Given the description of an element on the screen output the (x, y) to click on. 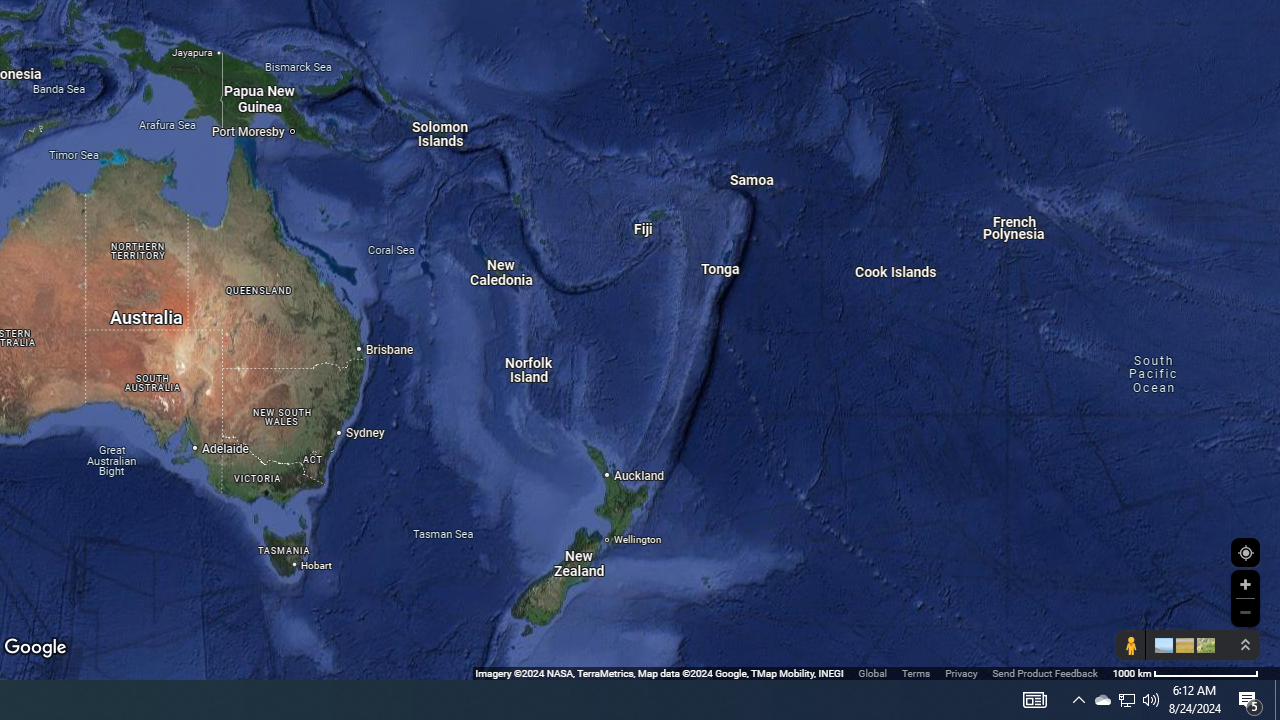
Show Street View coverage (1130, 645)
Zoom in (1245, 584)
Global (872, 672)
1000 km (1185, 672)
Privacy (960, 672)
Show imagery (1202, 645)
Terms (916, 672)
Show Your Location (1245, 552)
Zoom out (1245, 612)
Send Product Feedback (1045, 672)
